Given the description of an element on the screen output the (x, y) to click on. 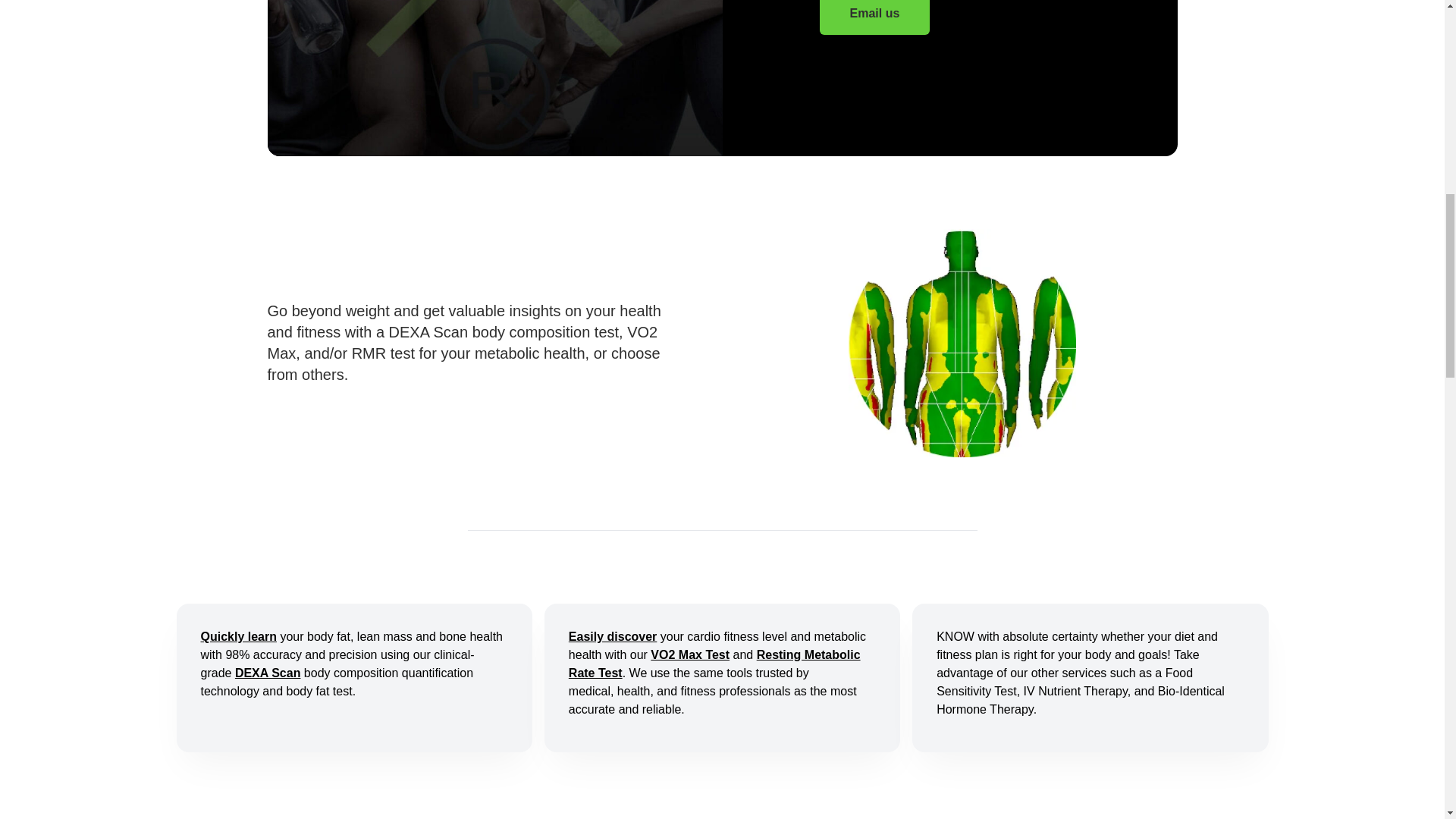
Resting Metabolic Rate Test (874, 17)
VO2 Max Test (714, 663)
DEXA Scan (689, 654)
